Given the description of an element on the screen output the (x, y) to click on. 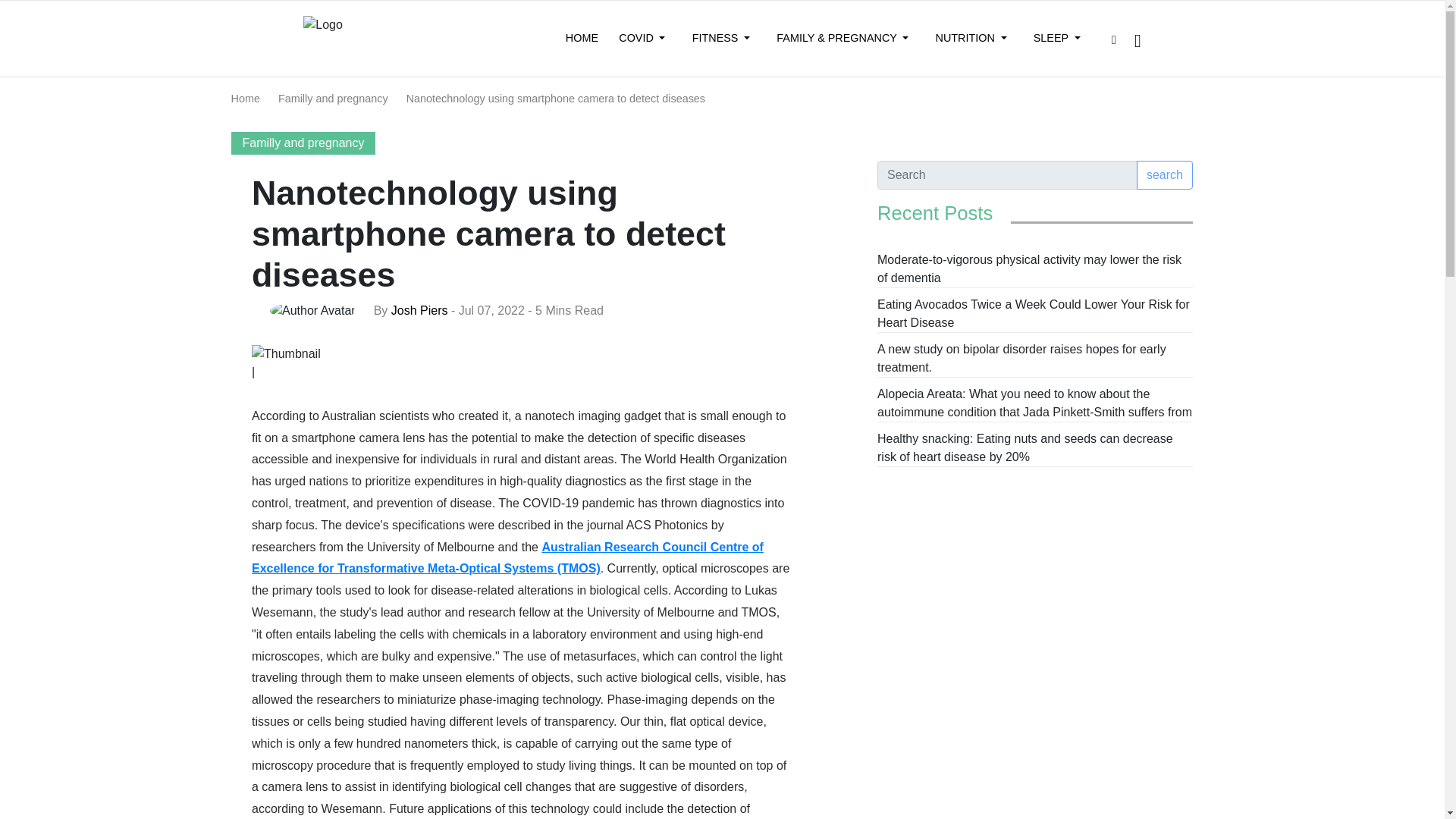
HOME (581, 38)
NUTRITION (971, 38)
SLEEP (1057, 38)
Familly and pregnancy (333, 98)
FITNESS (720, 38)
COVID (642, 38)
Home (244, 98)
